Given the description of an element on the screen output the (x, y) to click on. 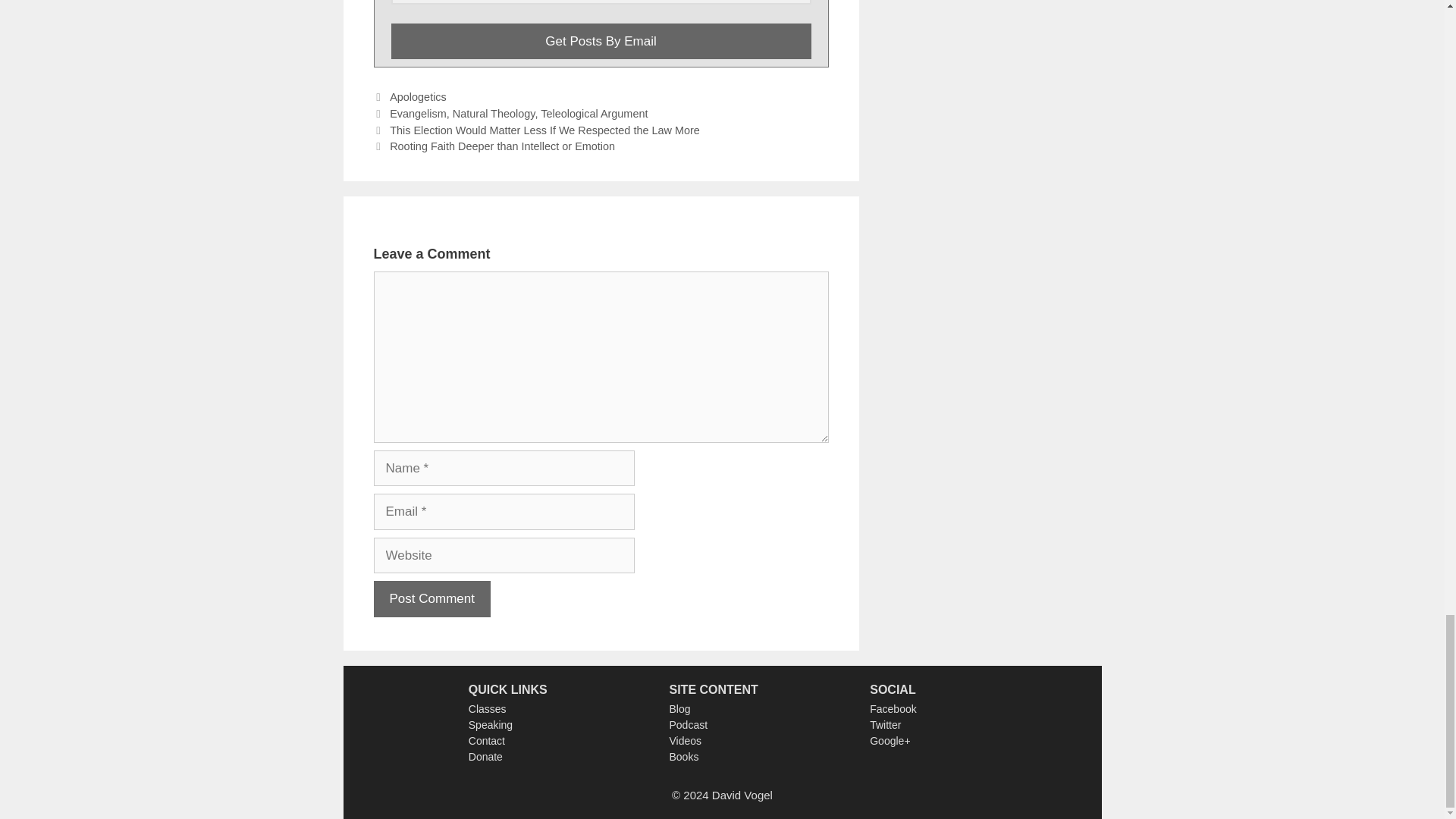
Donate (485, 756)
This Election Would Matter Less If We Respected the Law More (545, 130)
Teleological Argument (593, 113)
Post Comment (430, 598)
Blog (679, 708)
Rooting Faith Deeper than Intellect or Emotion (502, 146)
Natural Theology (493, 113)
Get Posts By Email (600, 41)
Apologetics (418, 96)
Contact (486, 740)
Speaking (490, 725)
Evangelism (418, 113)
Classes (487, 708)
Post Comment (430, 598)
